Given the description of an element on the screen output the (x, y) to click on. 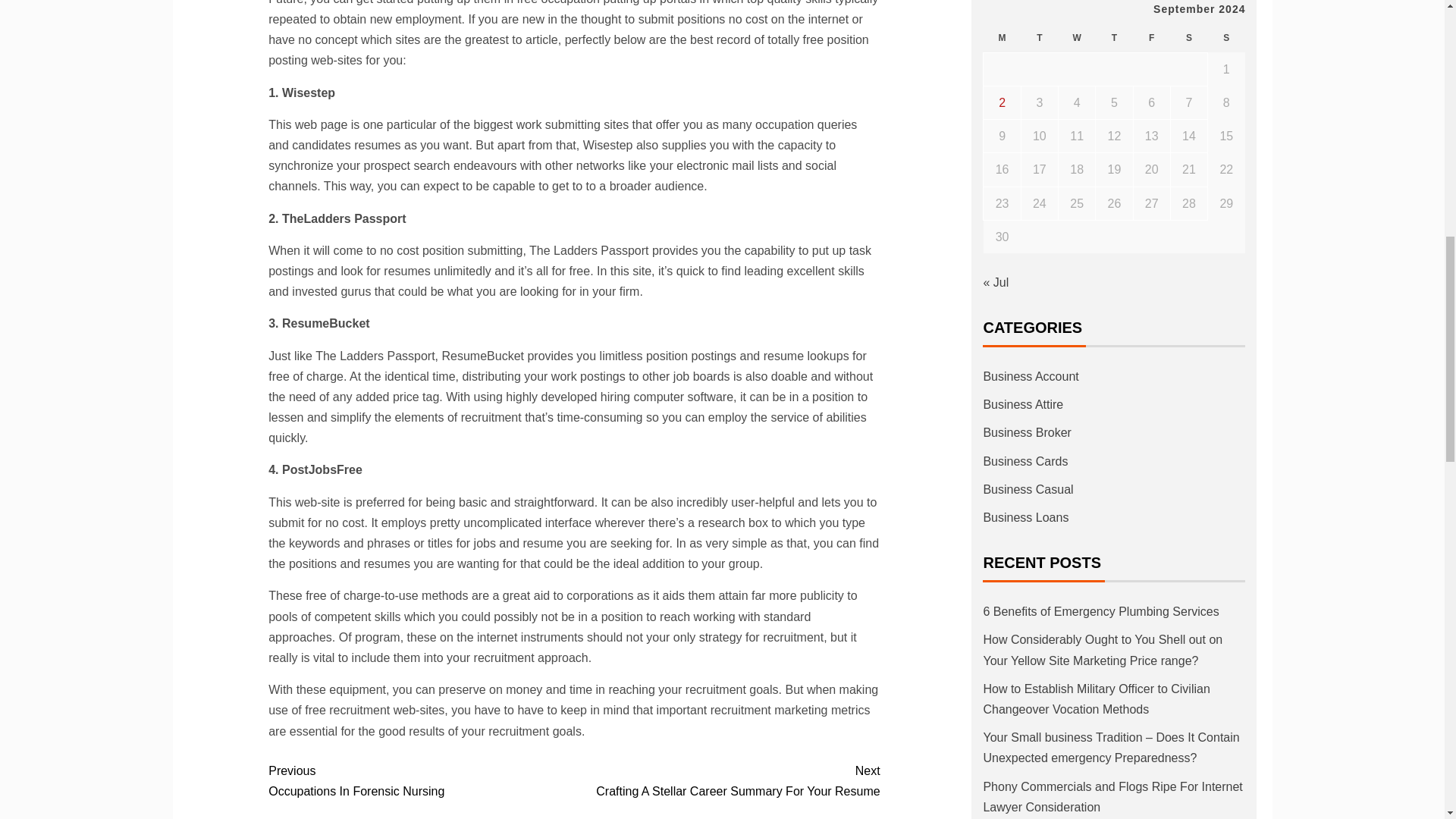
Monday (1002, 38)
Wednesday (420, 780)
Tuesday (1077, 38)
Thursday (1039, 38)
